Given the description of an element on the screen output the (x, y) to click on. 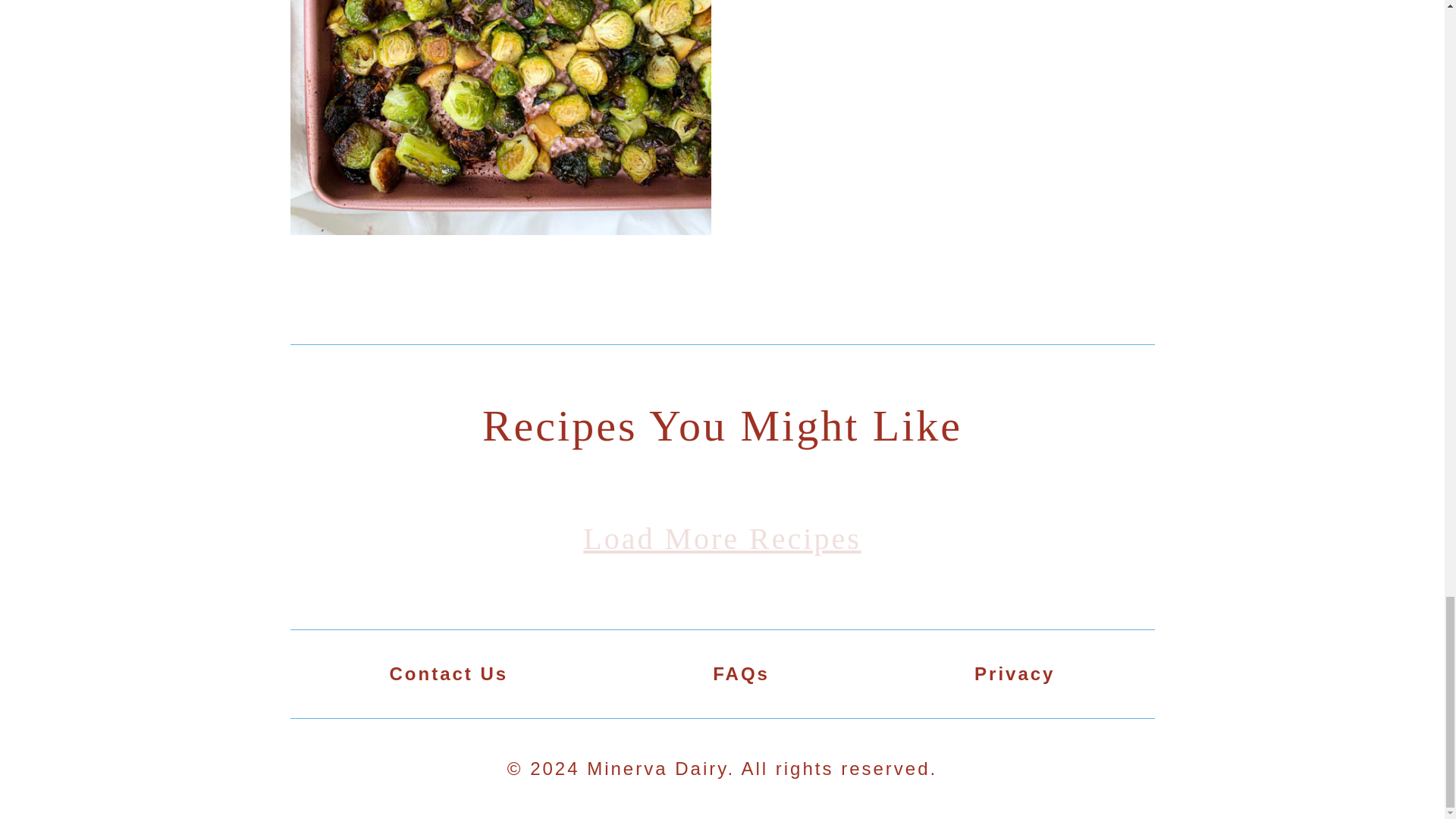
FAQs (741, 673)
Load More Recipes (721, 539)
Privacy (1014, 673)
Contact Us (449, 673)
